Given the description of an element on the screen output the (x, y) to click on. 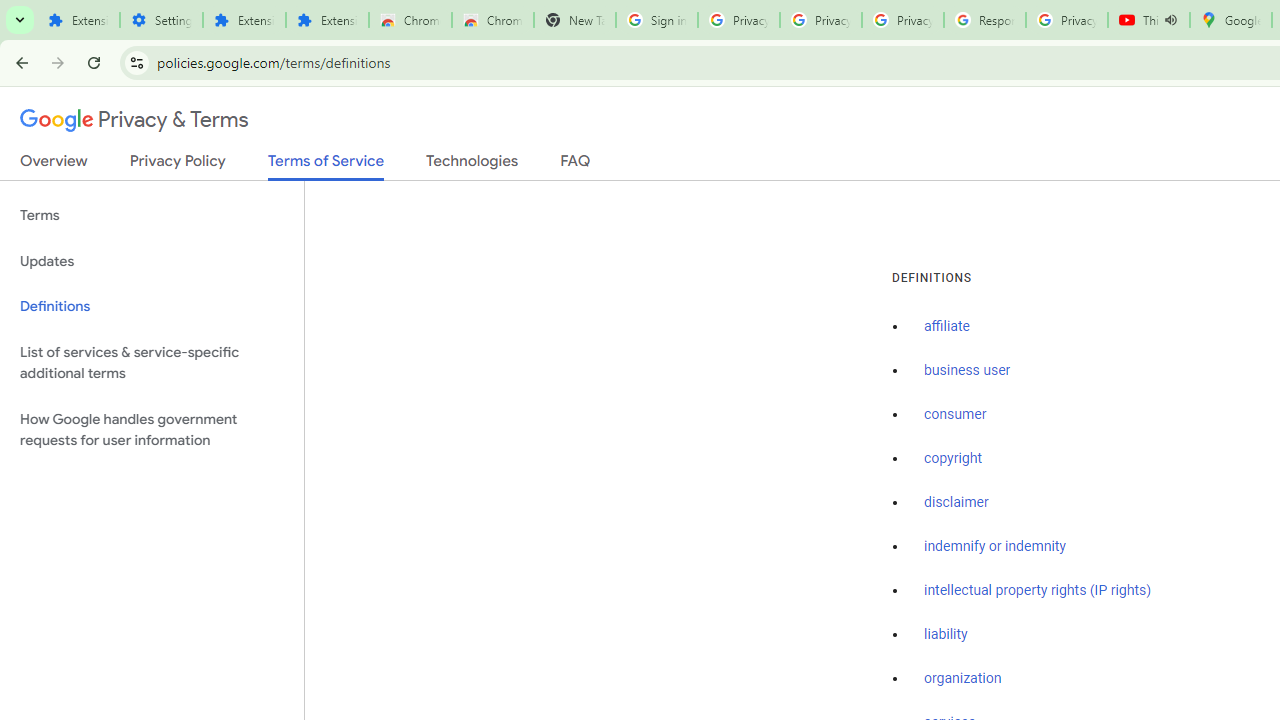
business user (967, 371)
How Google handles government requests for user information (152, 429)
Extensions (244, 20)
intellectual property rights (IP rights) (1038, 590)
consumer (955, 415)
Extensions (78, 20)
New Tab (574, 20)
